Given the description of an element on the screen output the (x, y) to click on. 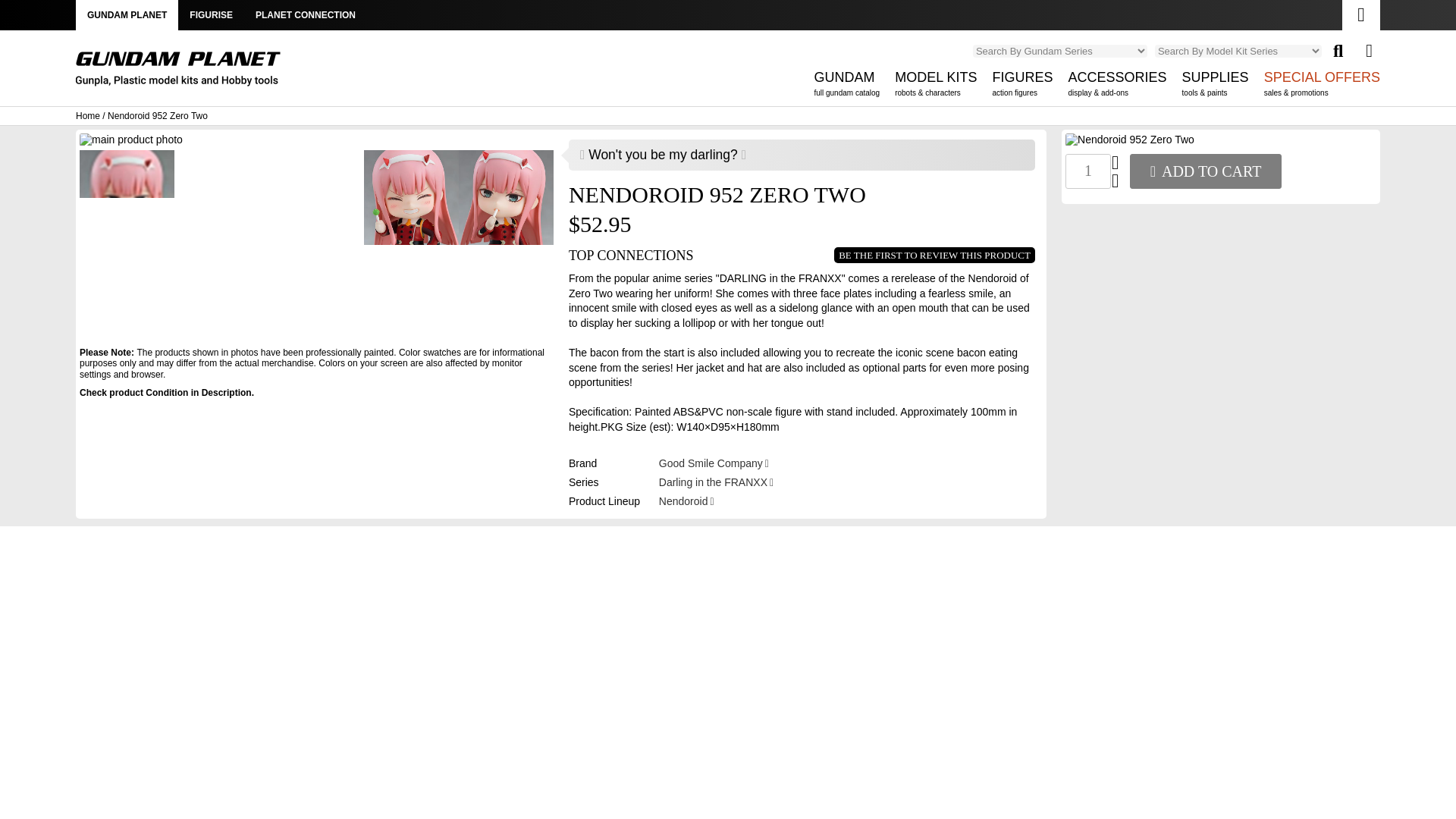
1 (846, 87)
Gundam Planet (1087, 171)
PLANET CONNECTION (178, 68)
FIGURISE (305, 15)
Gundam Planet (210, 15)
GUNDAM PLANET (178, 73)
